Given the description of an element on the screen output the (x, y) to click on. 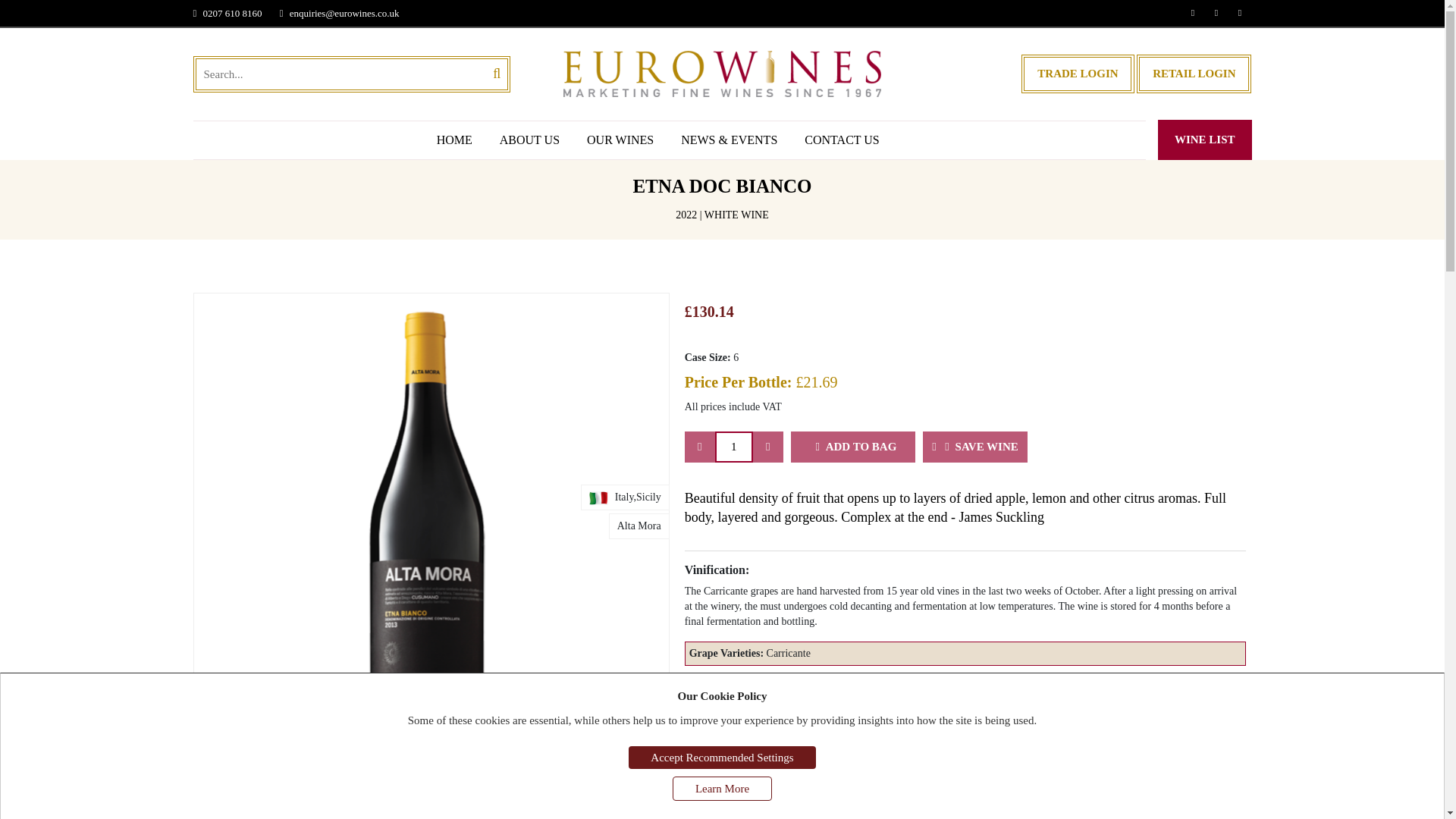
OUR WINES (620, 139)
1 (733, 446)
WINE LIST (1204, 139)
ABOUT US (529, 139)
HOME (453, 139)
CONTACT US (841, 139)
RETAIL LOGIN (1193, 73)
TRADE LOGIN (1078, 73)
